Given the description of an element on the screen output the (x, y) to click on. 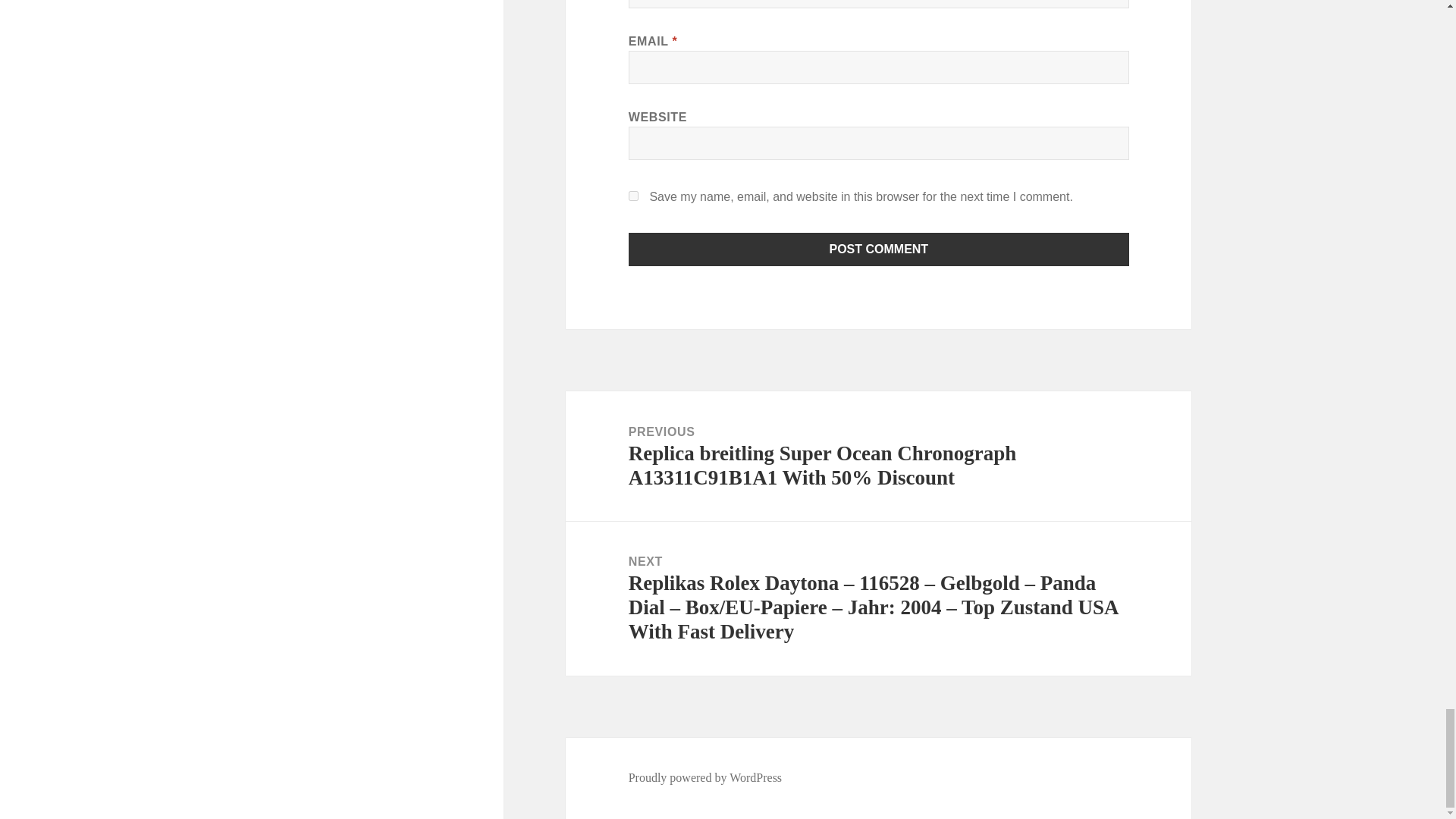
Post Comment (878, 249)
yes (633, 195)
